Given the description of an element on the screen output the (x, y) to click on. 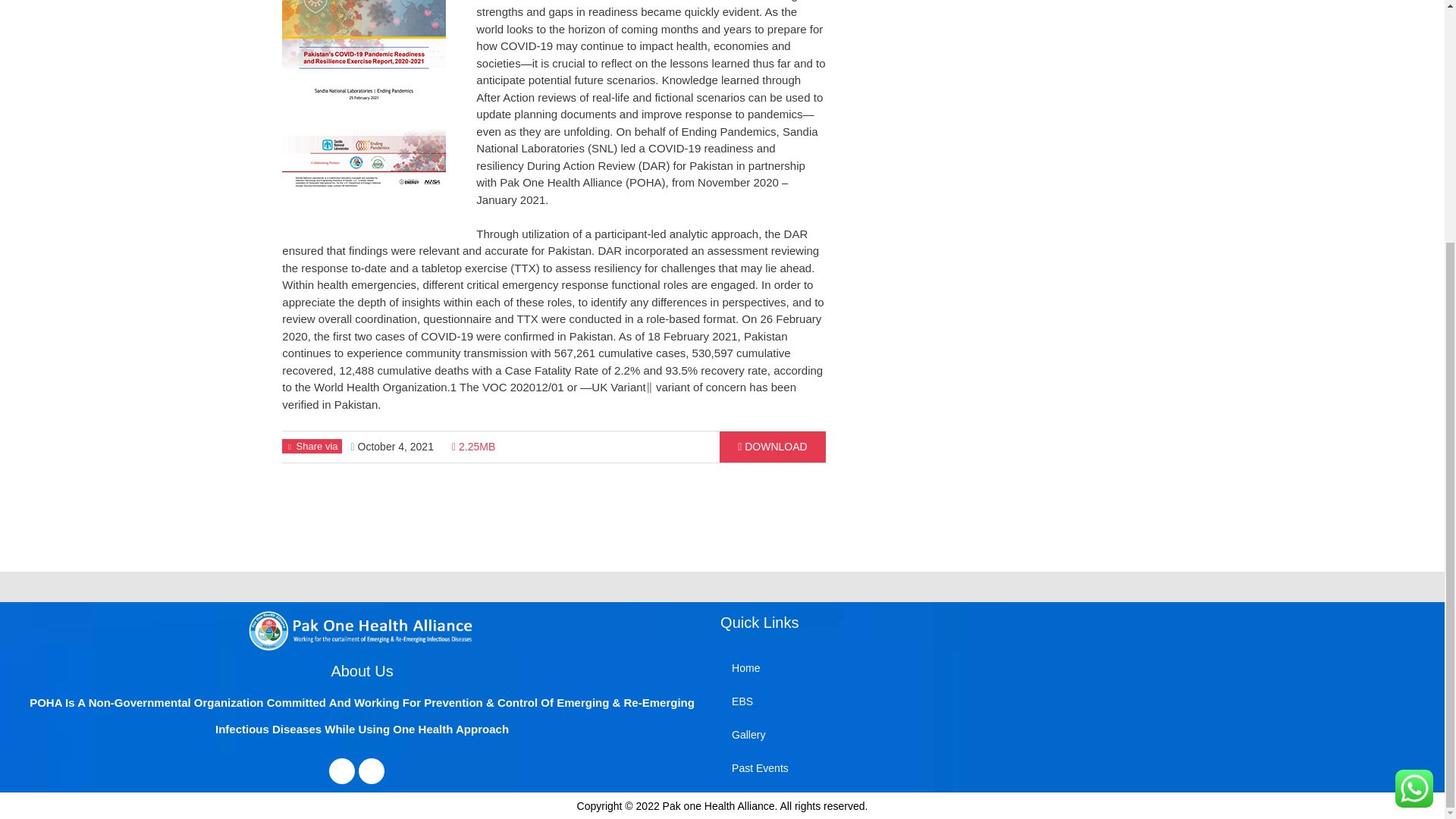
Gallery (874, 734)
Download (772, 446)
2.25MB (473, 446)
EBS (874, 701)
Home (874, 667)
DOWNLOAD (772, 446)
Past Events (874, 767)
